Given the description of an element on the screen output the (x, y) to click on. 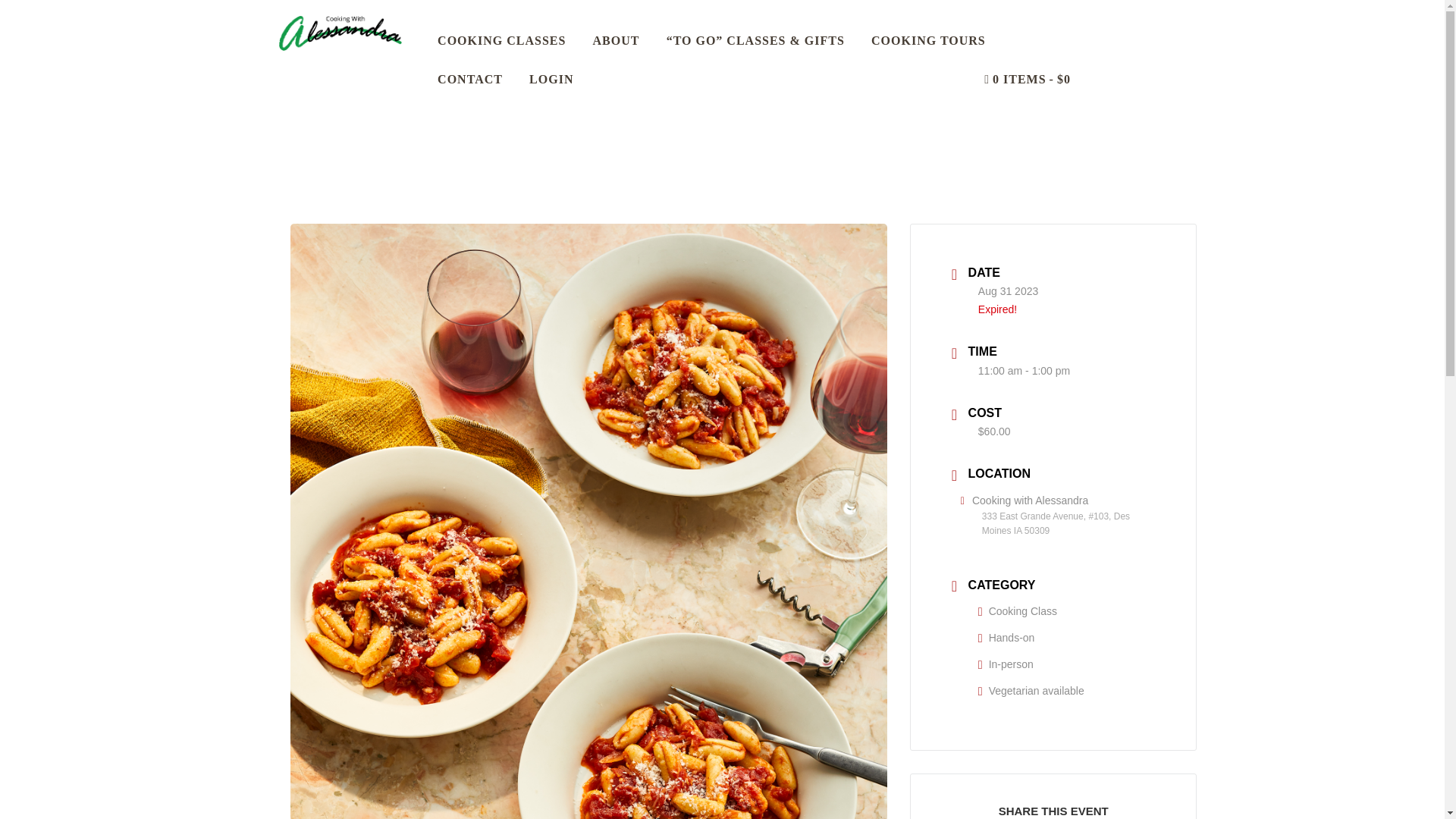
LOGIN (552, 79)
COOKING CLASSES (502, 41)
CONTACT (470, 79)
ABOUT (615, 41)
Start shopping (1027, 79)
COOKING TOURS (927, 41)
